Given the description of an element on the screen output the (x, y) to click on. 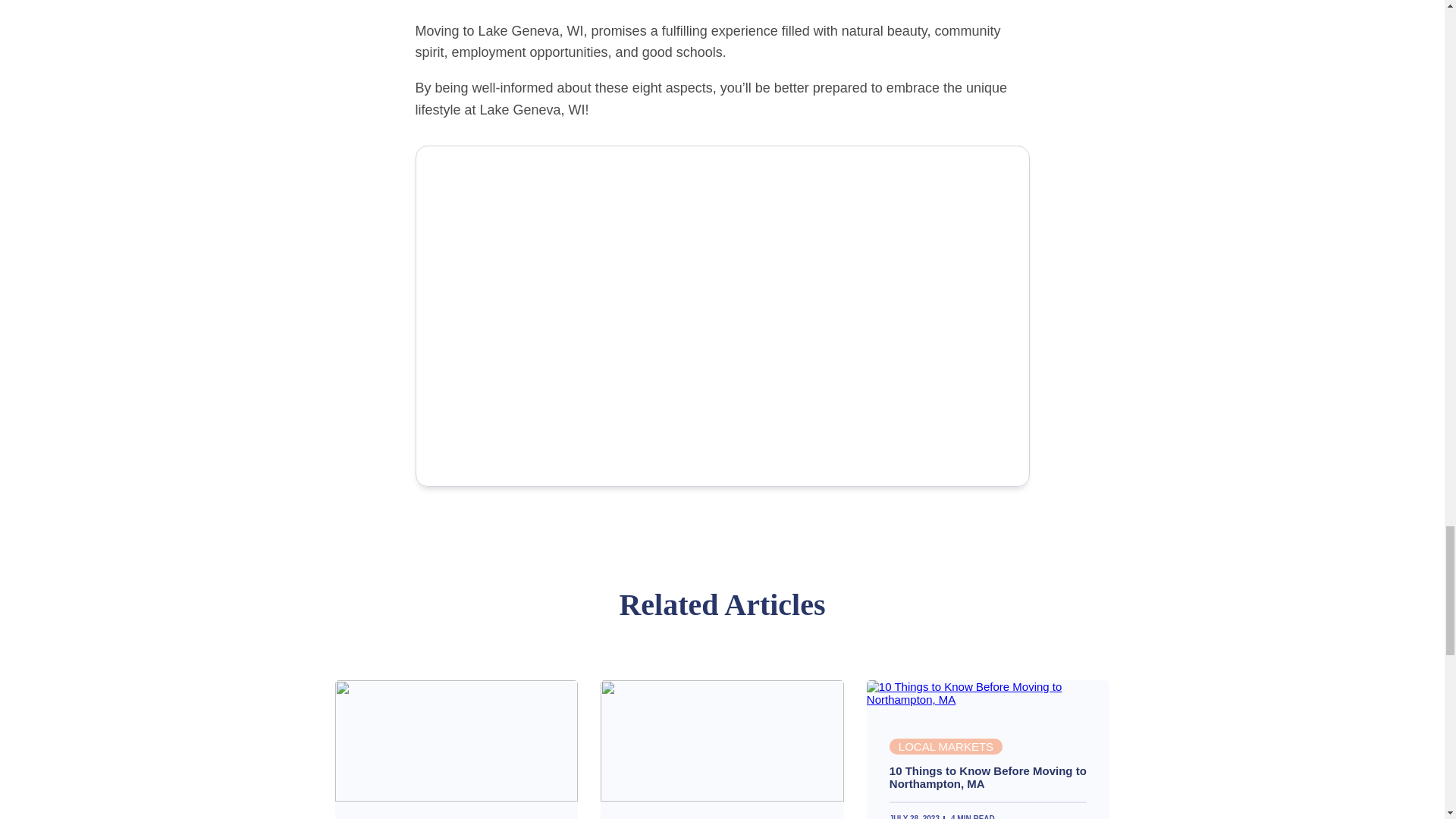
8 Things to Know Before Moving to Evergreen, CO (721, 797)
10 Things to Know Before Moving to Northampton, MA (987, 698)
10 Things to Know Before Moving to Northampton, MA (988, 777)
10 Things to Know Before Moving to Sudbury, MA (456, 797)
